Given the description of an element on the screen output the (x, y) to click on. 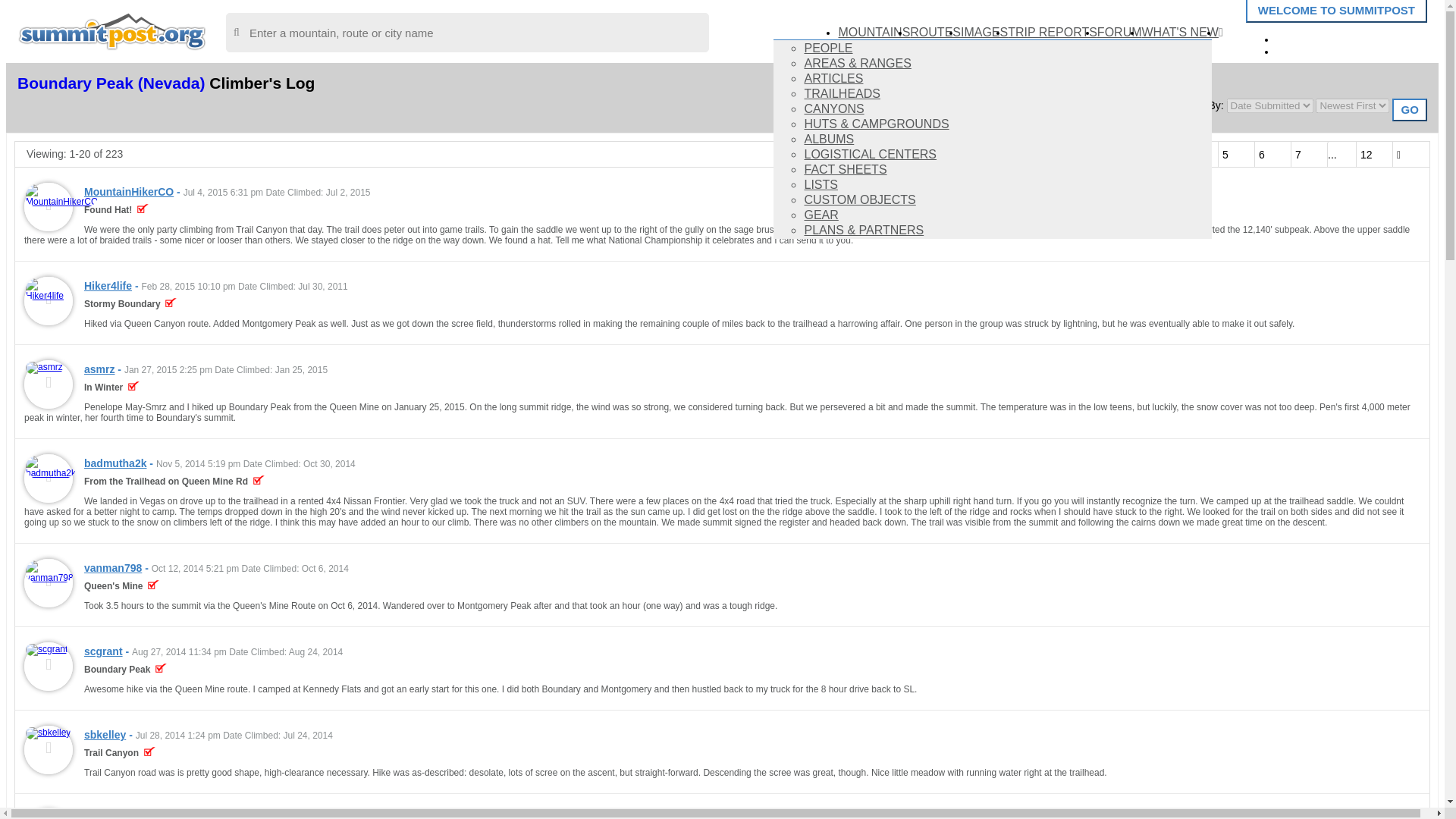
12 (1374, 154)
IMAGES (983, 31)
 Go  (1408, 109)
7 (1308, 154)
ALBUMS (828, 138)
Success! (142, 209)
ARTICLES (833, 78)
ROUTES (935, 31)
SIGN IN (1310, 38)
GEAR (820, 214)
